Given the description of an element on the screen output the (x, y) to click on. 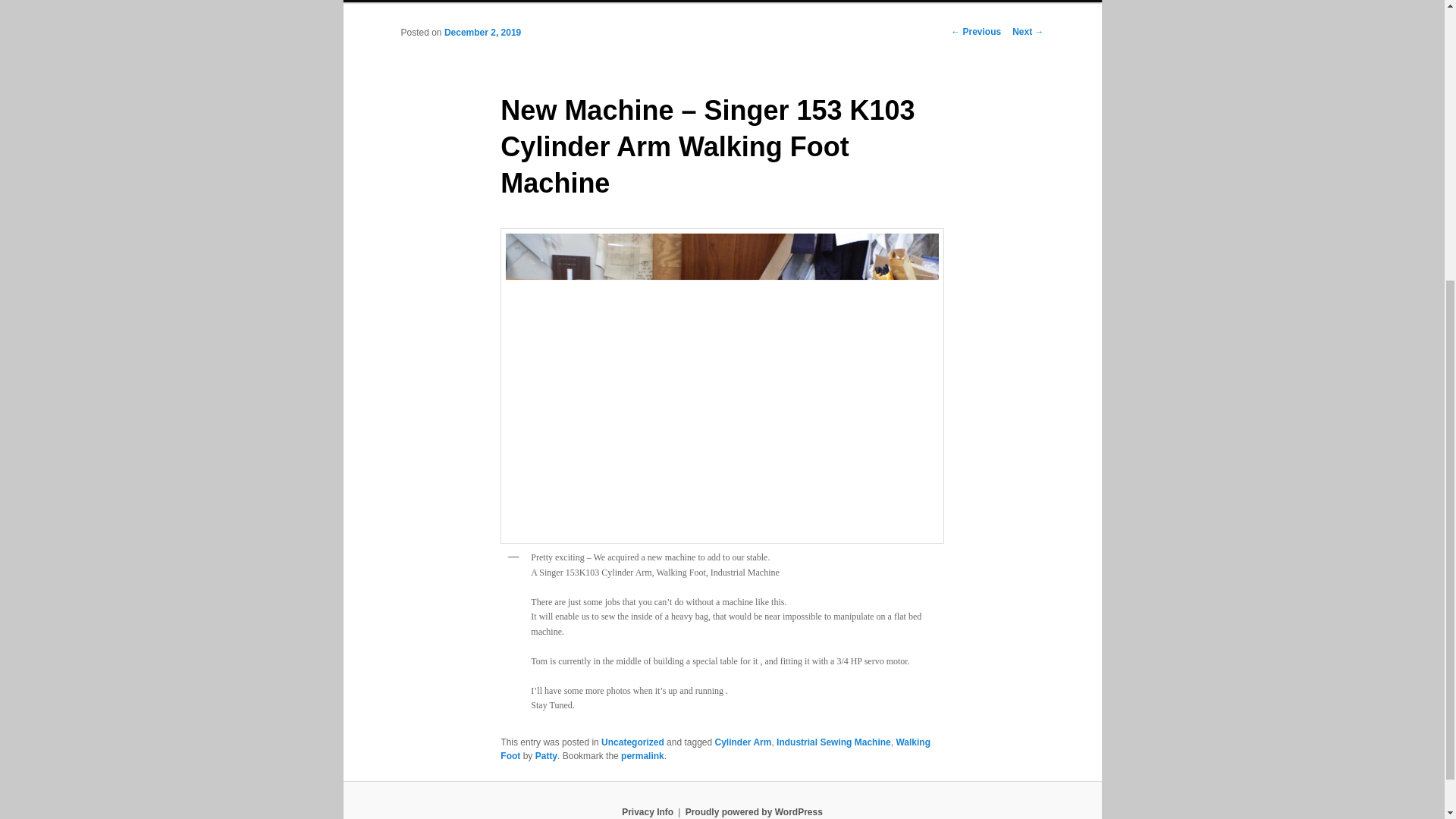
Industrial Sewing Machine (833, 742)
Semantic Personal Publishing Platform (753, 811)
Privacy Info (646, 811)
Walking Foot (715, 749)
Sewing Machine Repair (457, 1)
Patty (546, 756)
2:15 pm (482, 32)
Blog (542, 1)
Uncategorized (632, 742)
Cylinder Arm (742, 742)
